Given the description of an element on the screen output the (x, y) to click on. 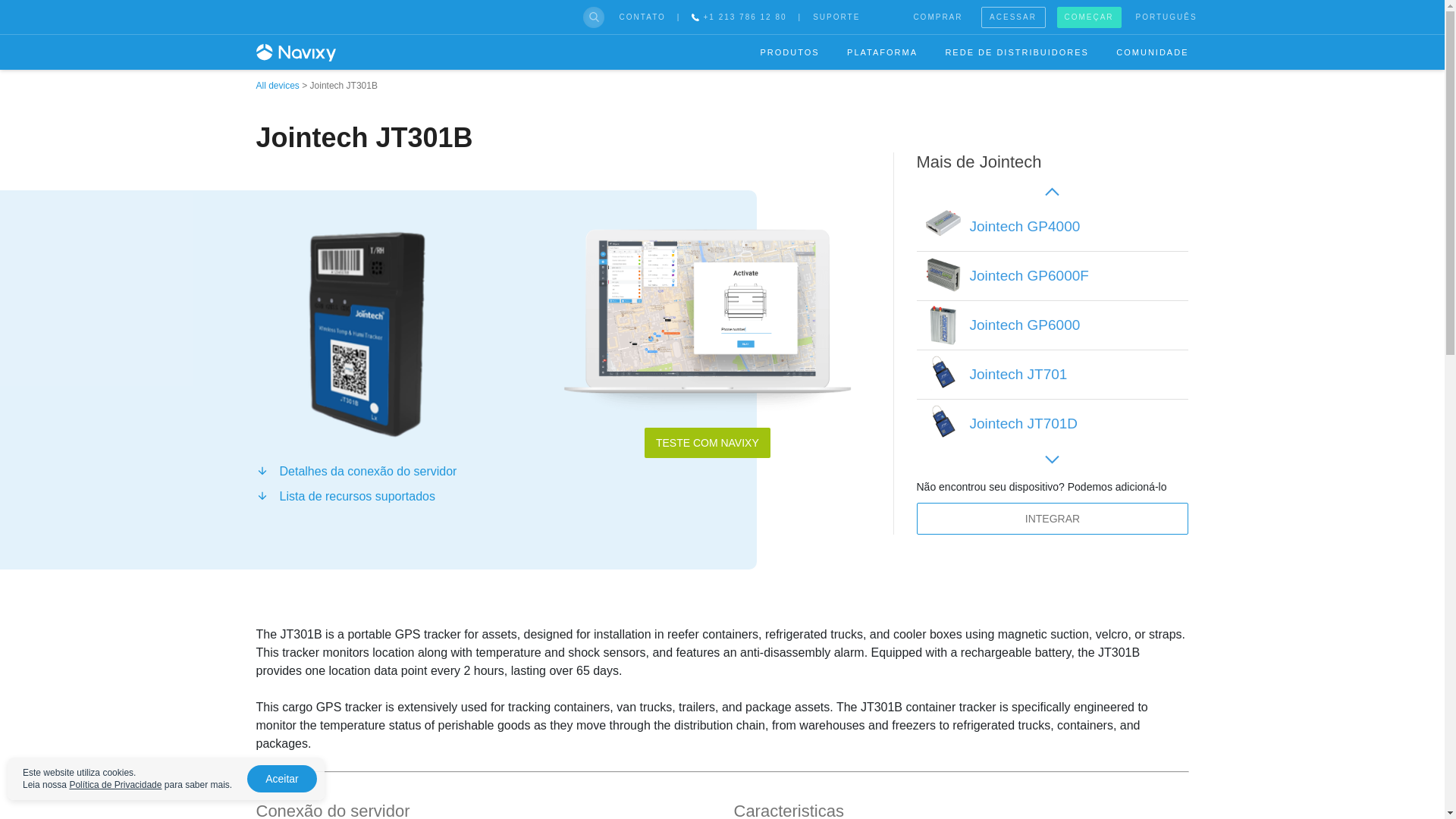
SUPORTE (836, 17)
REDE DE DISTRIBUIDORES (1015, 52)
CONTATO (642, 17)
Search (18, 6)
COMPRAR (937, 17)
Jointech JT301B (363, 335)
PRODUTOS (789, 52)
PLATAFORMA (882, 52)
ACESSAR (1013, 16)
